Given the description of an element on the screen output the (x, y) to click on. 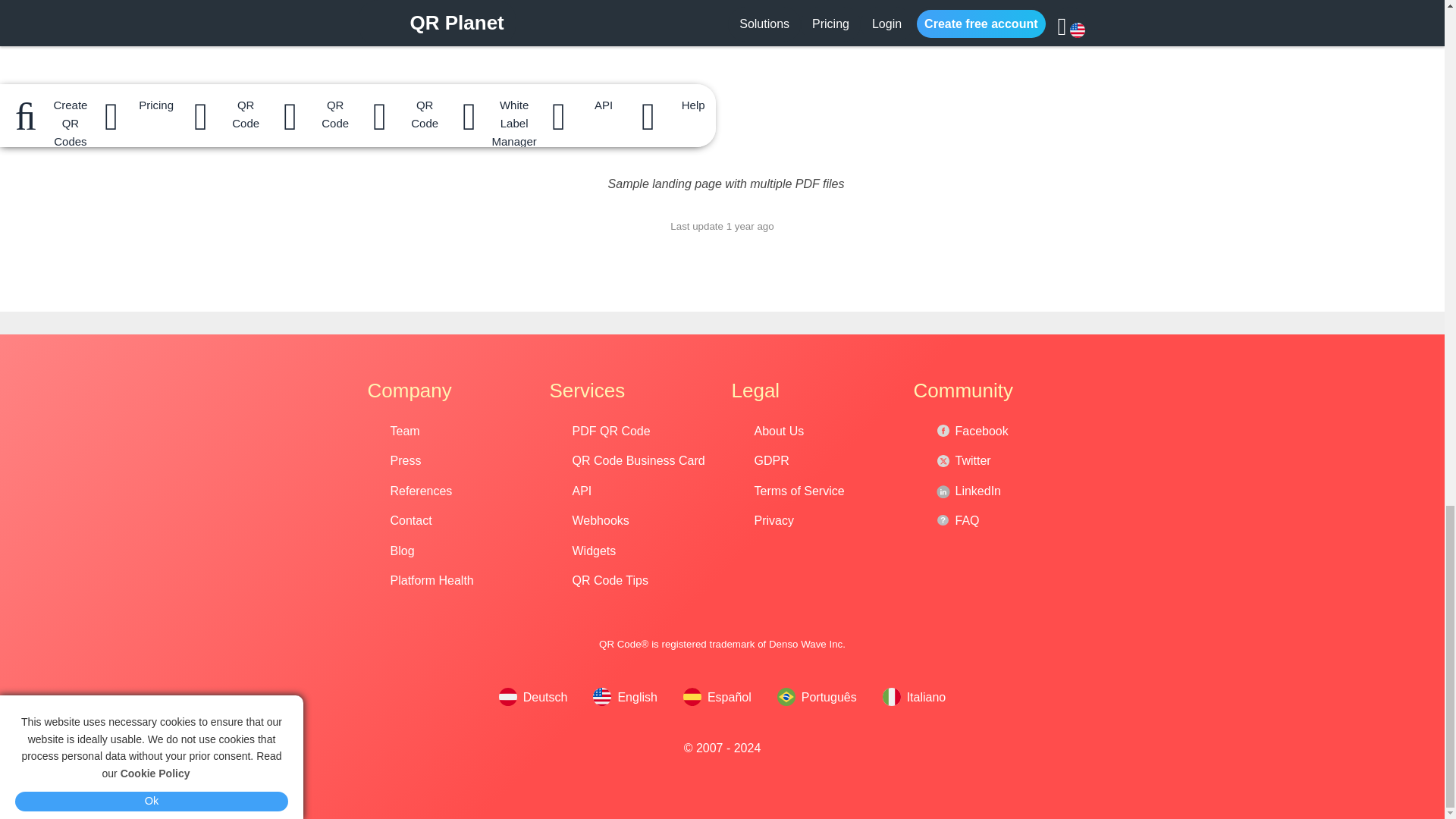
Team (460, 431)
